Given the description of an element on the screen output the (x, y) to click on. 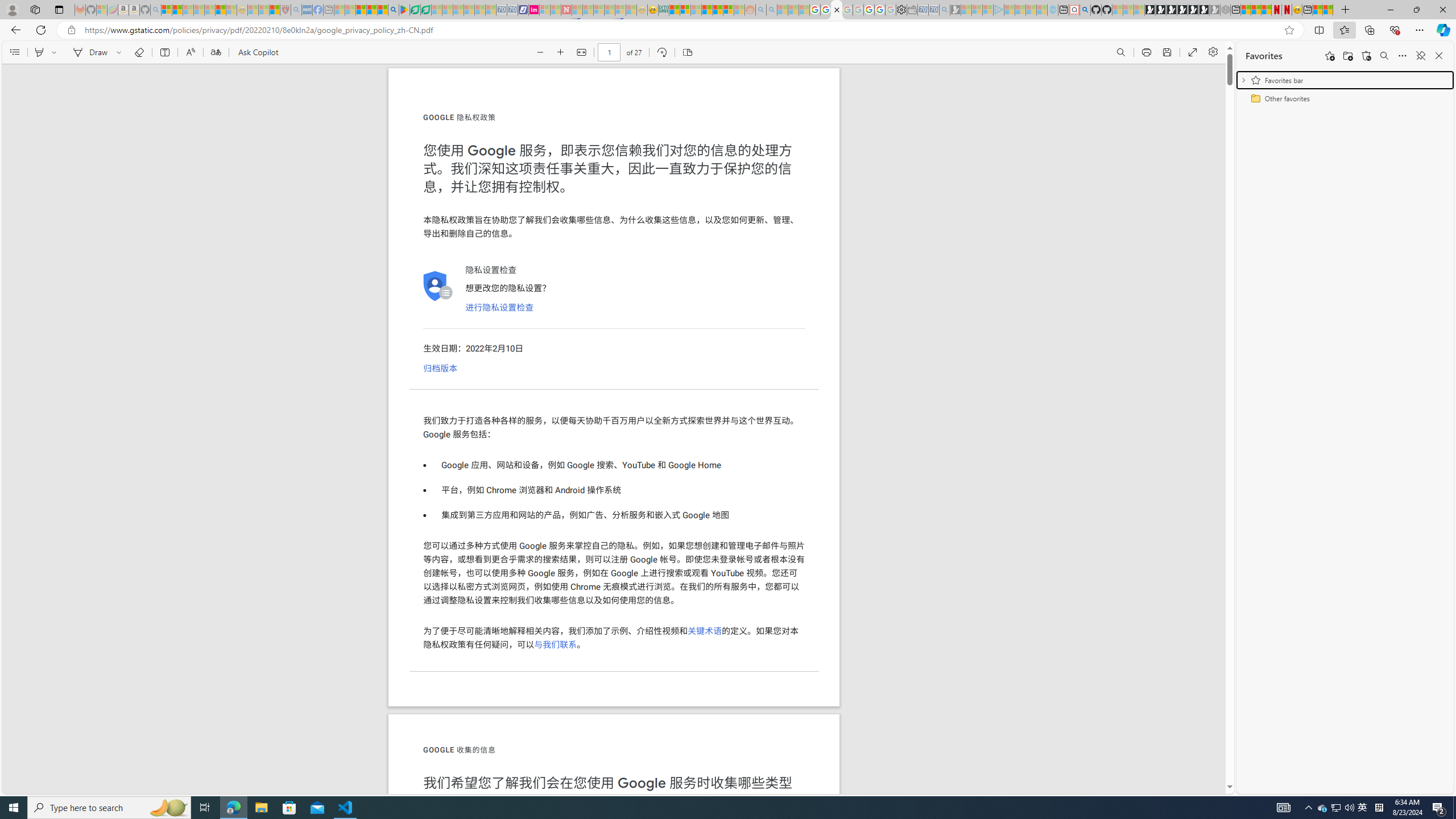
Find (Ctrl + F) (1120, 52)
PDF bar (613, 51)
Ask Copilot (257, 52)
Enter PDF full screen (1192, 52)
Kinda Frugal - MSN (717, 9)
